Given the description of an element on the screen output the (x, y) to click on. 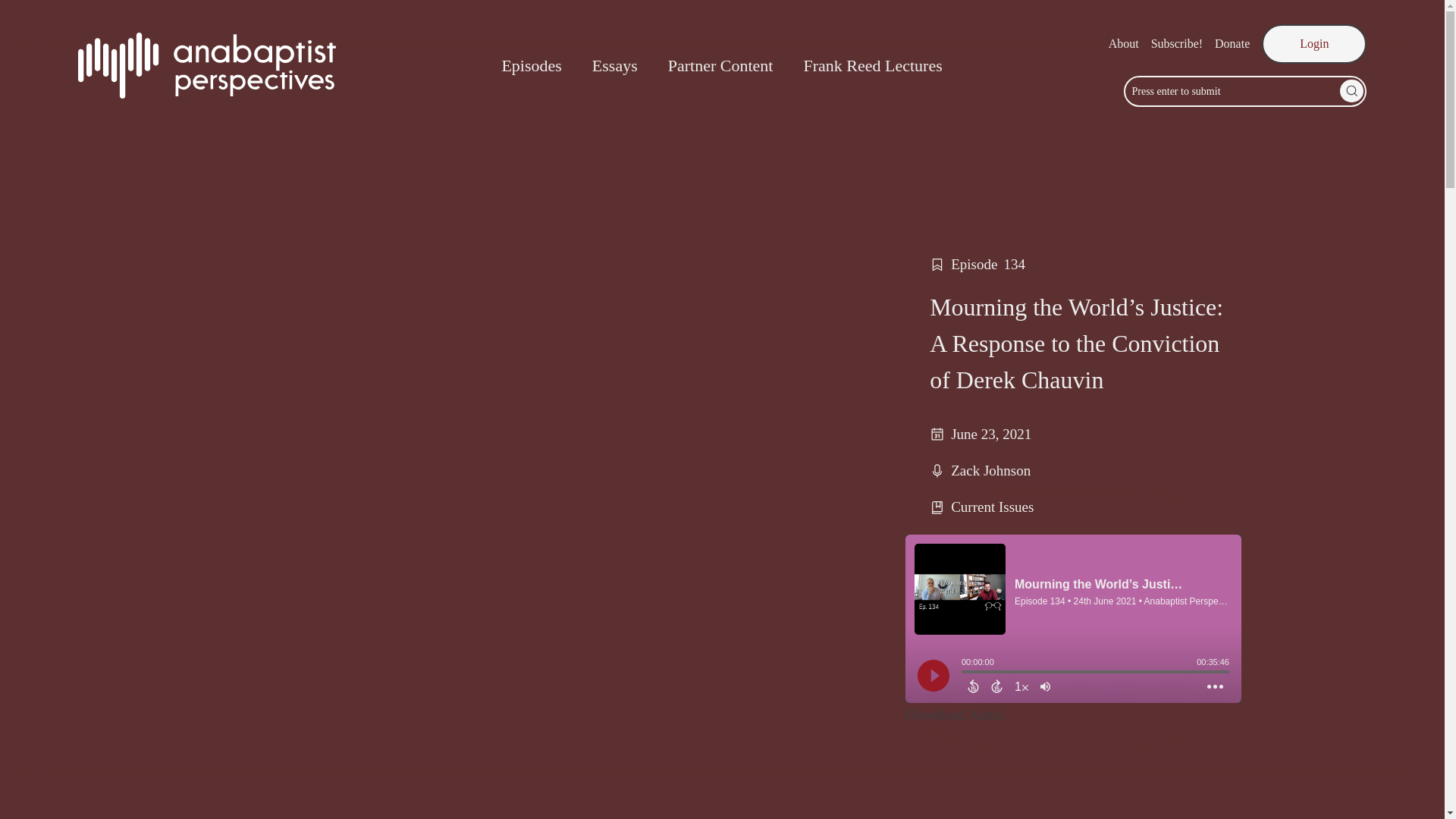
Zack Johnson (990, 470)
Subscribe! (1176, 43)
Essays (614, 64)
Donate (1231, 43)
Episodes (530, 64)
Download Audio (954, 714)
Partner Content (720, 64)
Login (1314, 43)
Current Issues (991, 506)
Frank Reed Lectures (872, 64)
About (1123, 43)
